Given the description of an element on the screen output the (x, y) to click on. 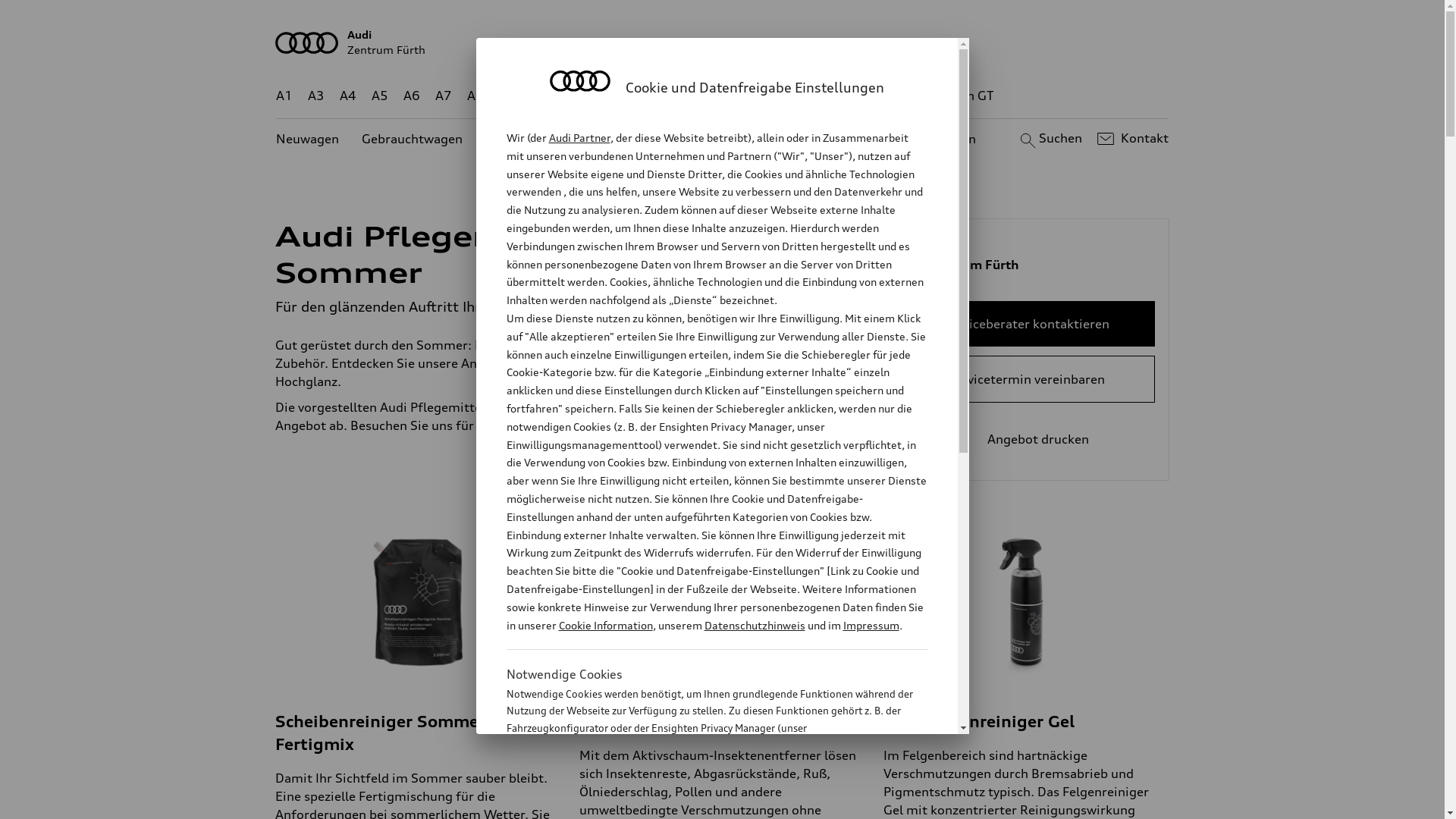
Q3 Element type: text (540, 95)
Angebote Element type: text (636, 139)
Kontakt Element type: text (1130, 138)
Cookie Information Element type: text (700, 802)
Neuwagen Element type: text (307, 139)
A8 Element type: text (475, 95)
Q4 e-tron Element type: text (592, 95)
Datenschutzhinweis Element type: text (753, 624)
Q8 e-tron Element type: text (763, 95)
A5 Element type: text (379, 95)
e-tron GT Element type: text (965, 95)
g-tron Element type: text (903, 95)
Servicetermin vereinbaren Element type: text (1025, 378)
A3 Element type: text (315, 95)
Suchen Element type: text (1049, 138)
Q2 Element type: text (507, 95)
Serviceberater kontaktieren Element type: text (1025, 323)
RS Element type: text (861, 95)
Q7 Element type: text (678, 95)
Angebot drucken Element type: text (1026, 438)
TT Element type: text (814, 95)
Impressum Element type: text (871, 624)
A4 Element type: text (347, 95)
Gebrauchtwagen Element type: text (411, 139)
Kundenservice Element type: text (730, 139)
A6 Element type: text (411, 95)
Audi Partner Element type: text (579, 137)
A1 Element type: text (284, 95)
Cookie Information Element type: text (605, 624)
Q8 Element type: text (710, 95)
Q5 Element type: text (645, 95)
A7 Element type: text (443, 95)
